Given the description of an element on the screen output the (x, y) to click on. 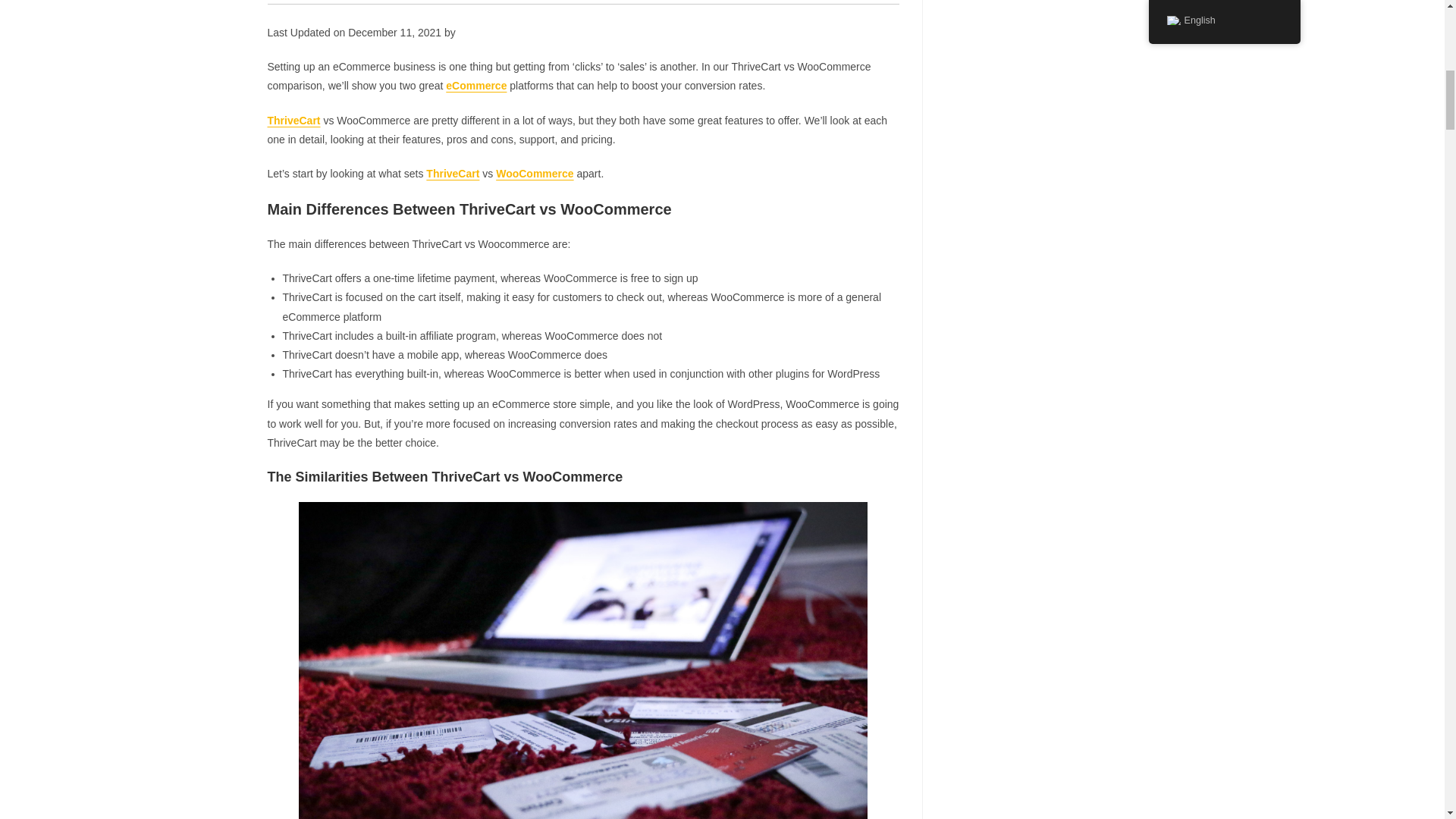
ThriveCart (293, 119)
ThriveCart (452, 173)
eCommerce (475, 85)
